Given the description of an element on the screen output the (x, y) to click on. 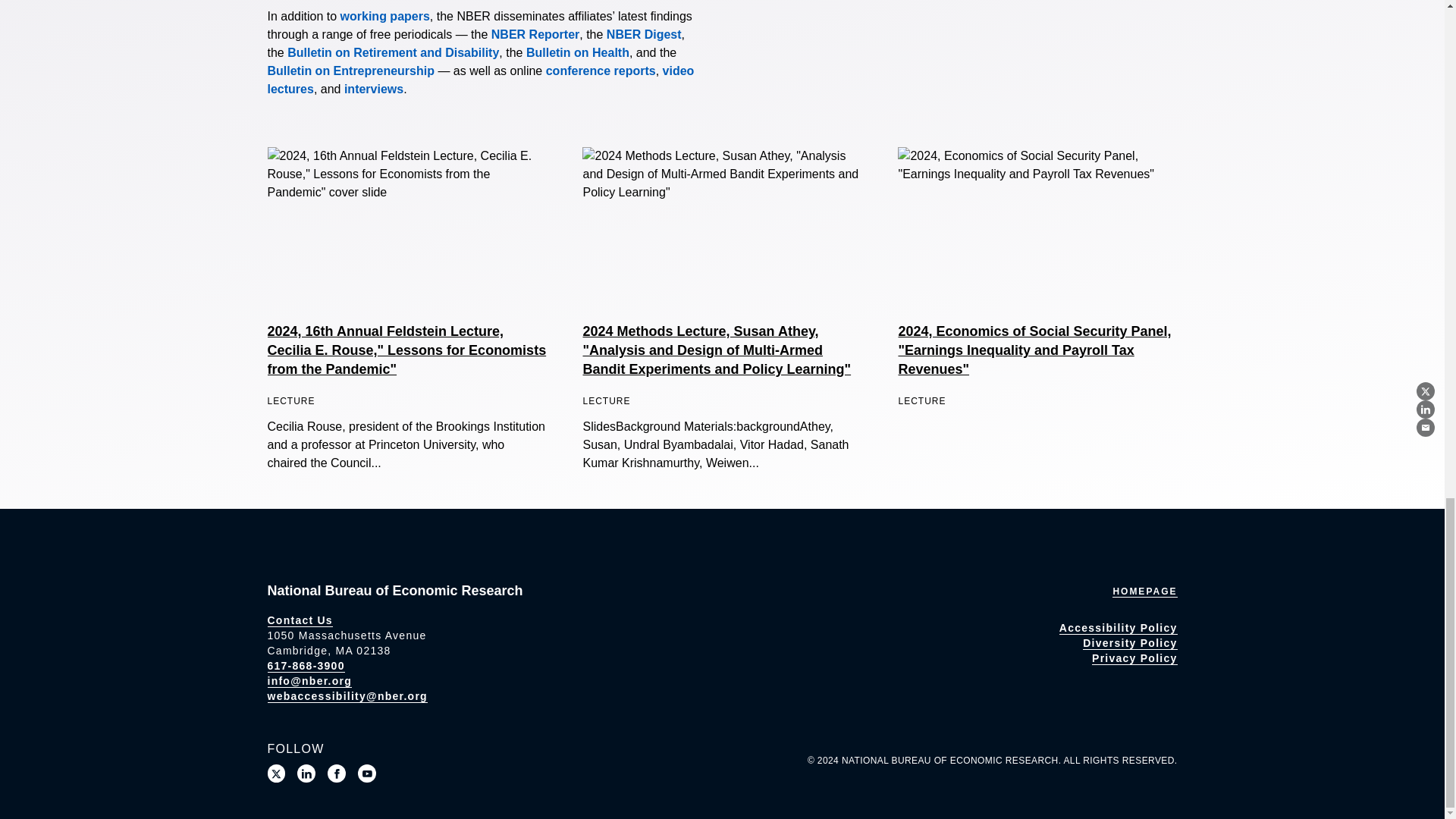
Conferences (601, 70)
Research Spotlights (373, 88)
Working Papers (384, 15)
Lectures (480, 79)
